Given the description of an element on the screen output the (x, y) to click on. 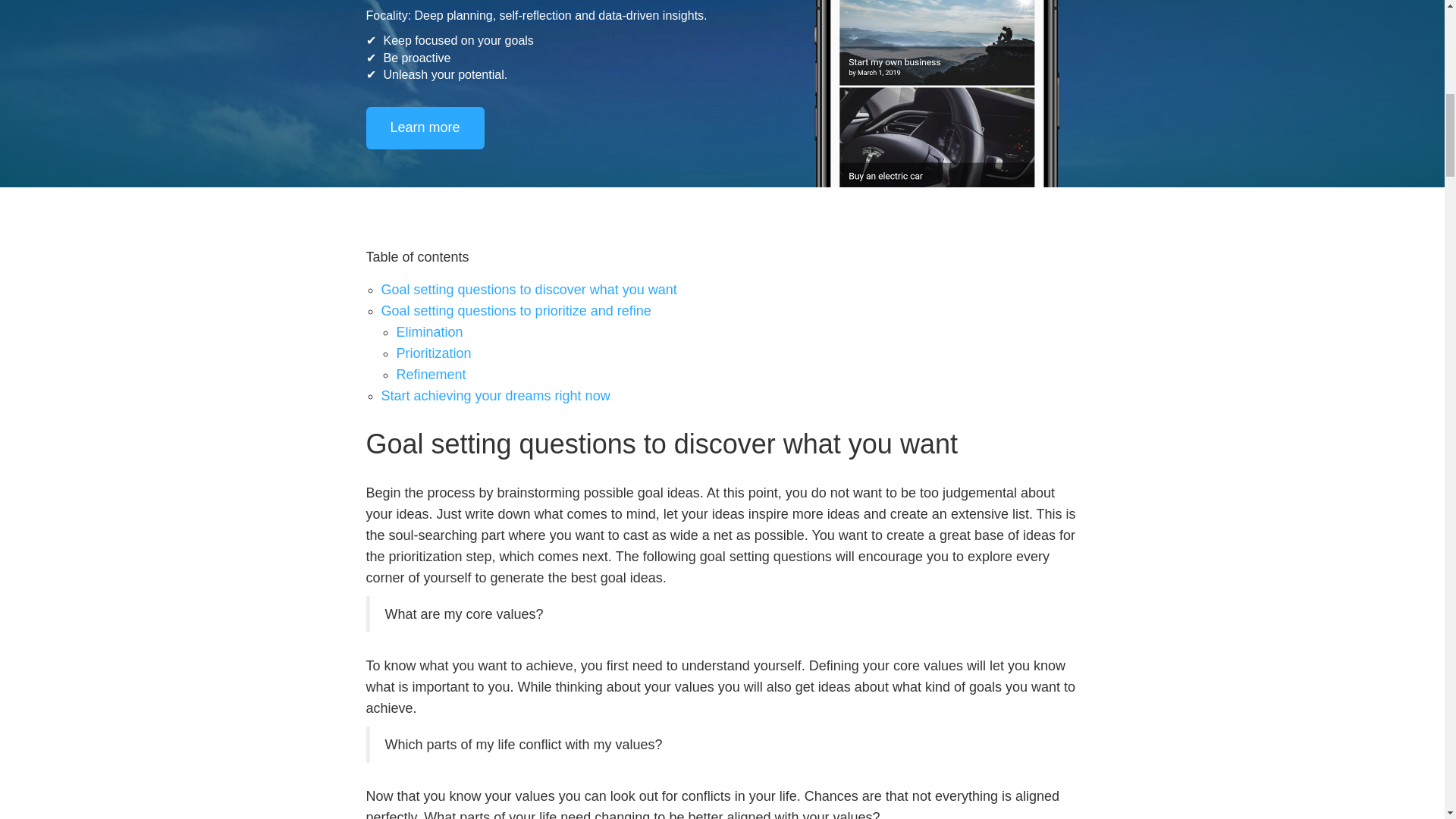
Learn more (424, 128)
Goal setting questions to discover what you want (528, 289)
Refinement (430, 374)
Goal setting questions to prioritize and refine (515, 310)
Elimination (429, 331)
Prioritization (433, 353)
Start achieving your dreams right now (495, 395)
